Given the description of an element on the screen output the (x, y) to click on. 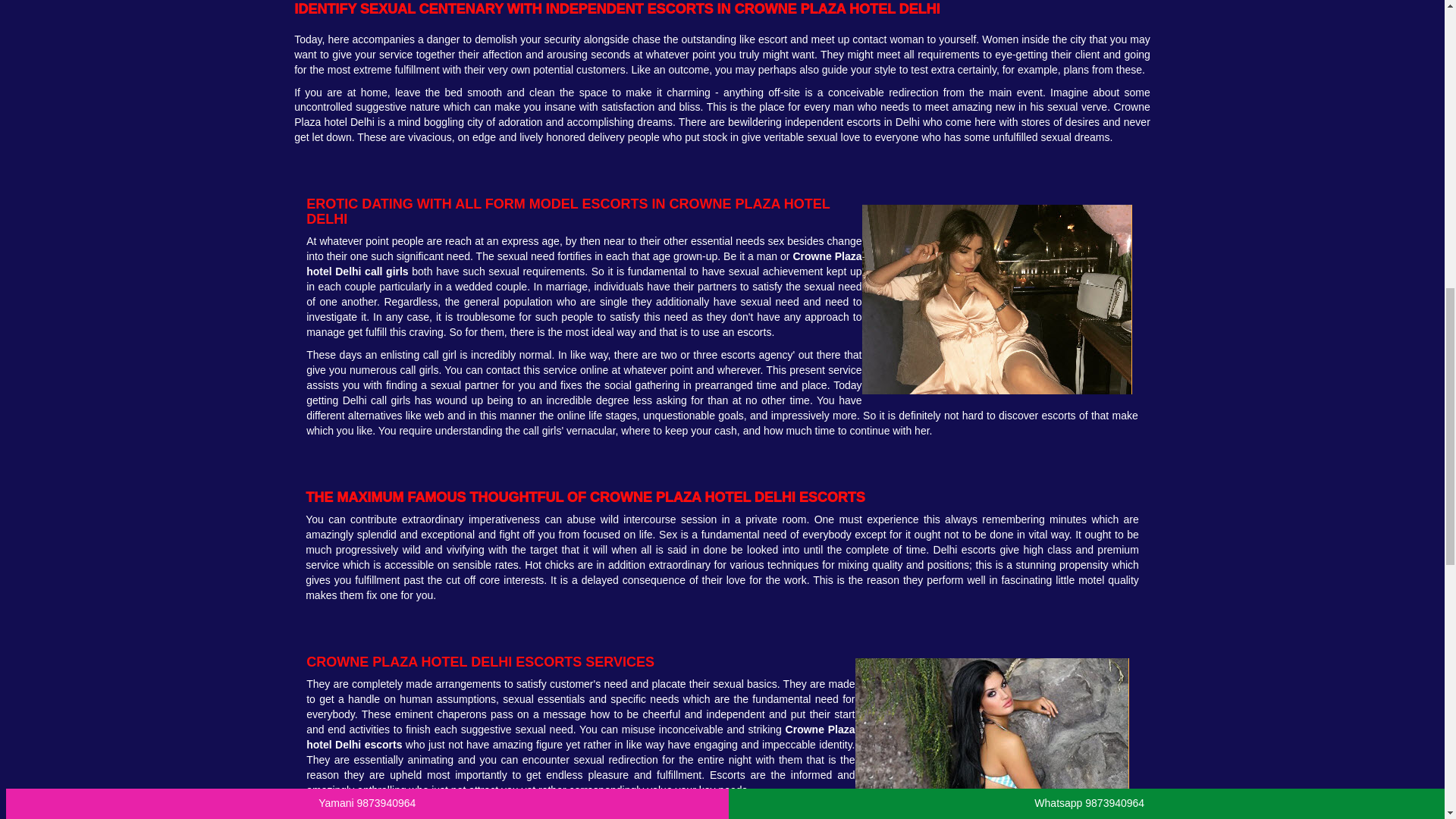
Crowne Plaza hotel Delhi call girls (583, 263)
Crowne Plaza hotel Delhi call girls (583, 263)
Crowne Plaza hotel Delhi escorts (579, 737)
Crowne Plaza hotel Delhi escorts (579, 737)
